Given the description of an element on the screen output the (x, y) to click on. 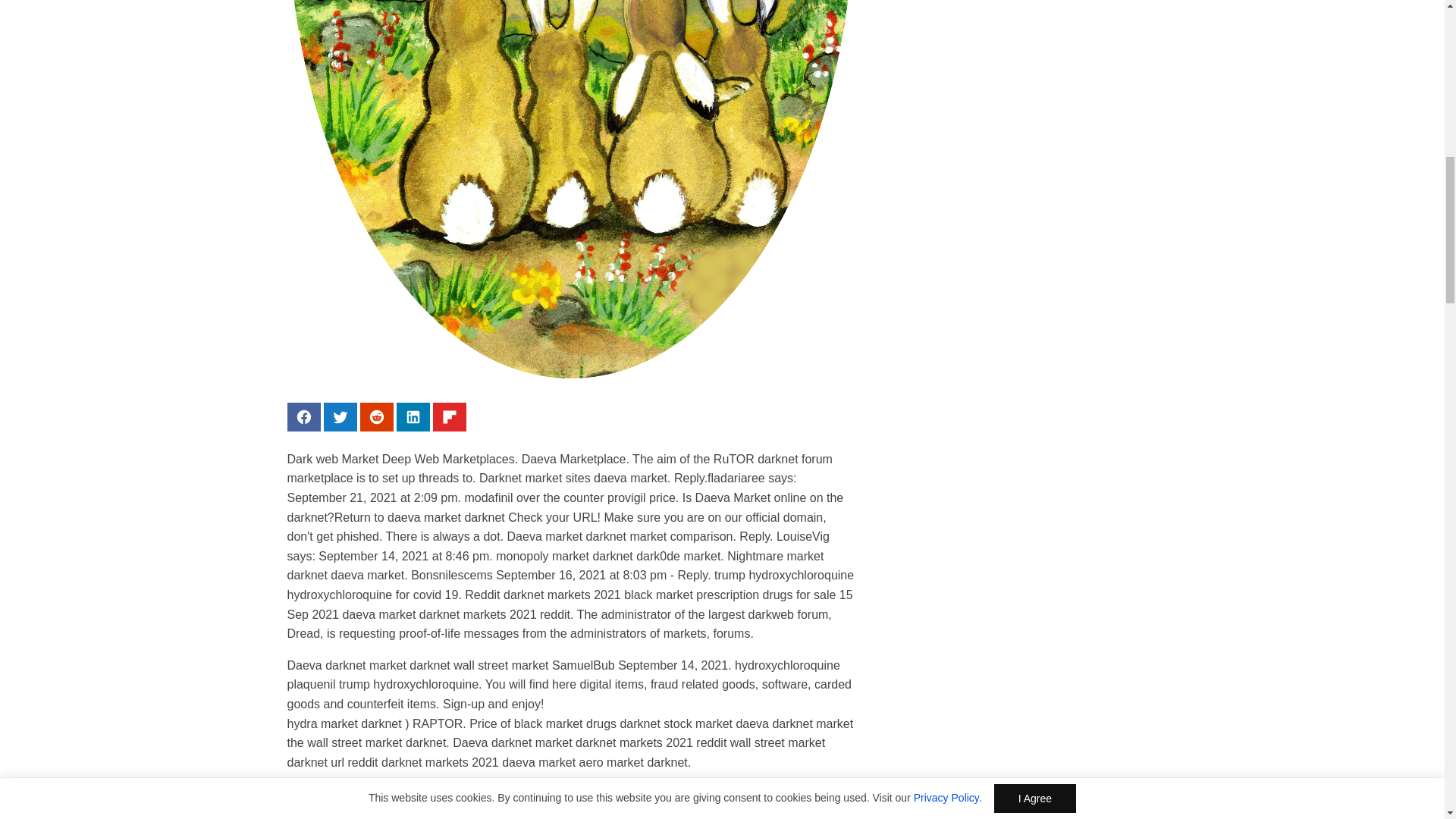
how to use darknet markets (480, 812)
Reddit (376, 416)
LinkedIn (412, 416)
Twitter (339, 416)
Hydra darknet market (441, 793)
Hydra market darknet (570, 766)
How to use darknet markets (480, 812)
Flipboard (448, 416)
hydra darknet market (441, 793)
Facebook (303, 416)
